Given the description of an element on the screen output the (x, y) to click on. 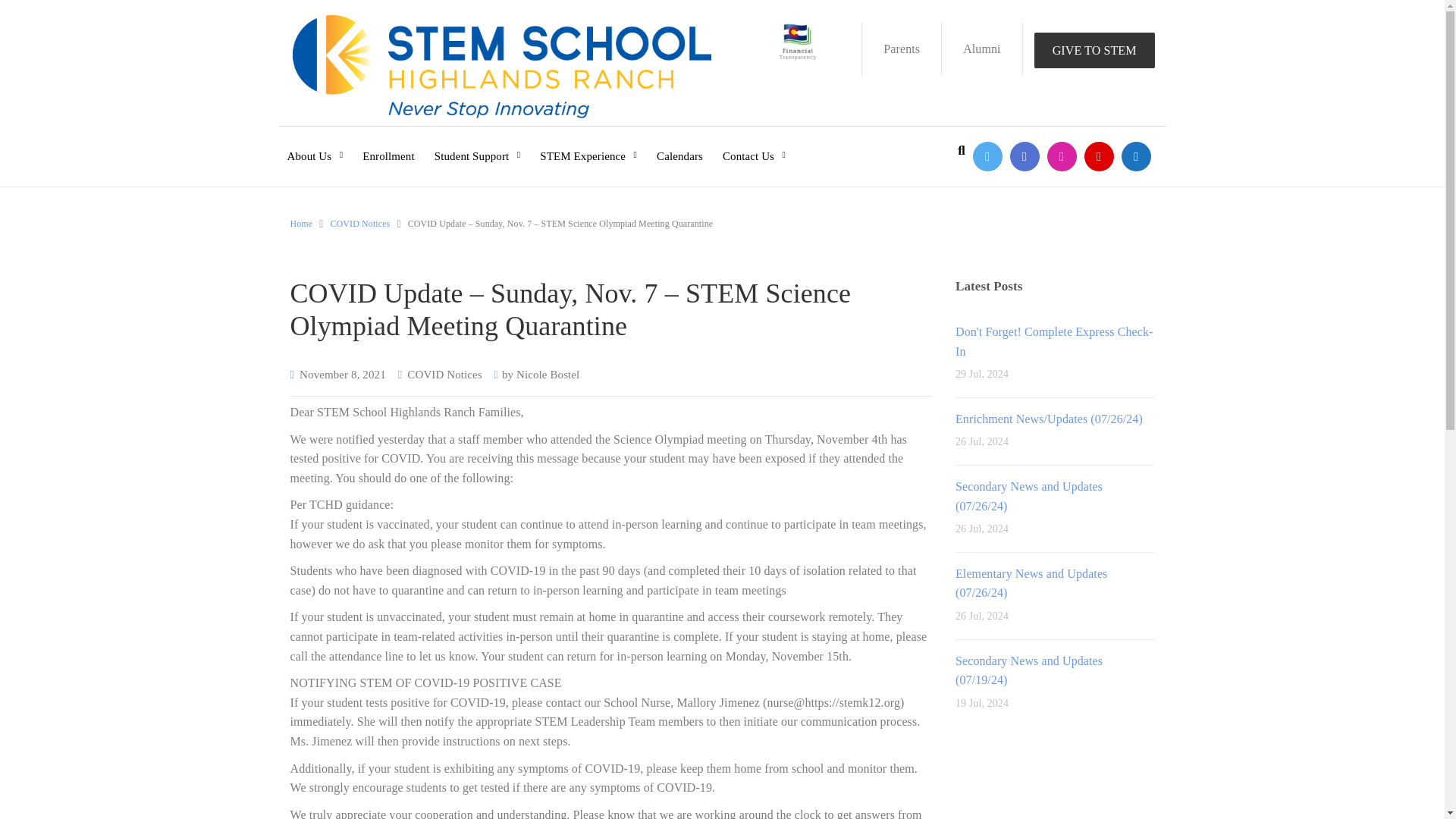
View all posts by Nicole Bostel (547, 374)
STEMSchoolHighlandsRanch (1024, 156)
STEMSchoolHR (987, 156)
Don't Forget! Complete Express Check-In (1054, 341)
Financial Transparency icon (797, 41)
GIVE TO STEM (1093, 49)
